Given the description of an element on the screen output the (x, y) to click on. 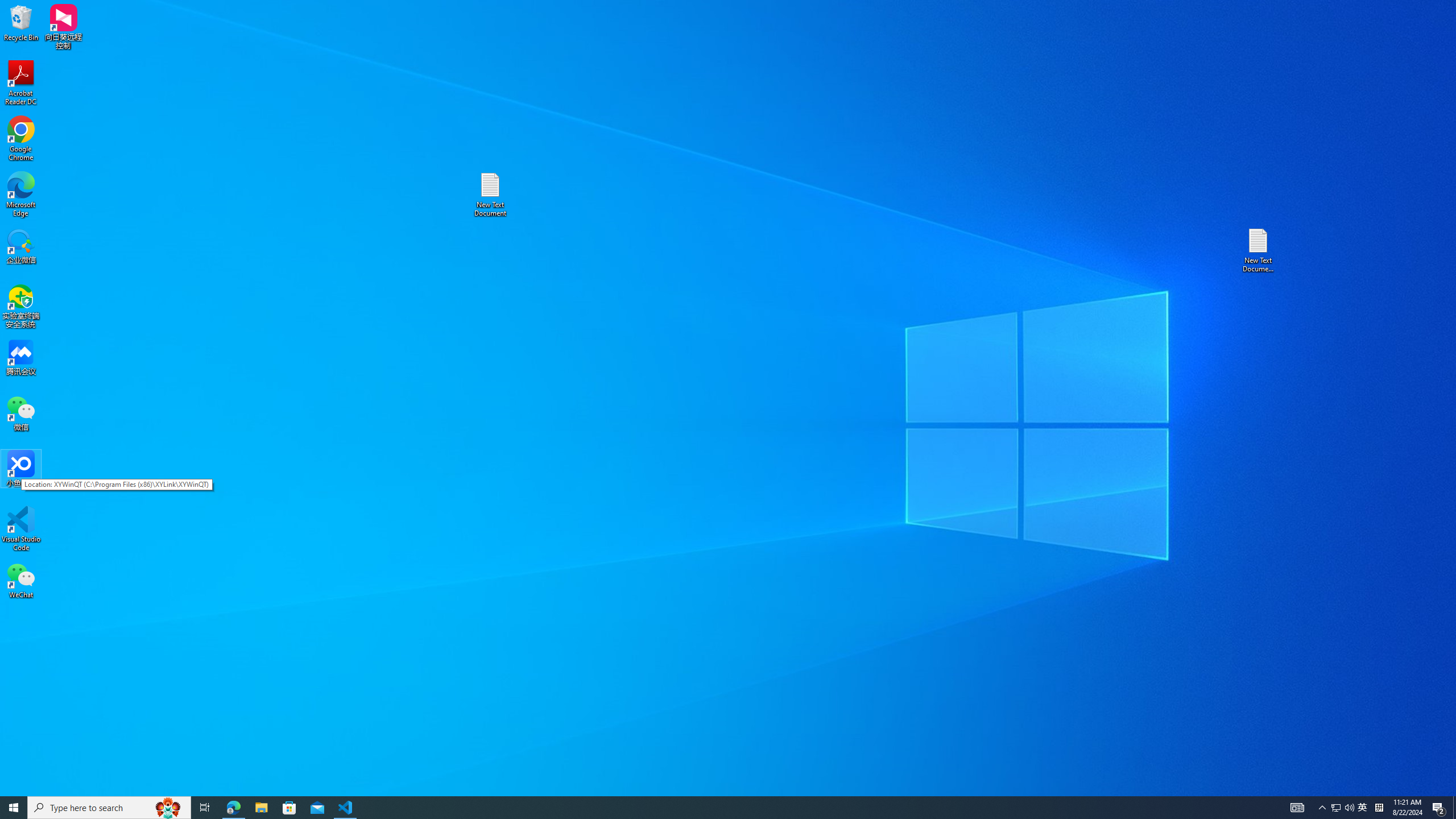
Type here to search (108, 807)
AutomationID: 4105 (1297, 807)
Visual Studio Code - 1 running window (345, 807)
Start (13, 807)
New Text Document (2) (1258, 250)
Visual Studio Code (21, 528)
User Promoted Notification Area (1342, 807)
Notification Chevron (1322, 807)
Show desktop (1454, 807)
Running applications (707, 807)
New Text Document (489, 194)
Acrobat Reader DC (21, 82)
